Given the description of an element on the screen output the (x, y) to click on. 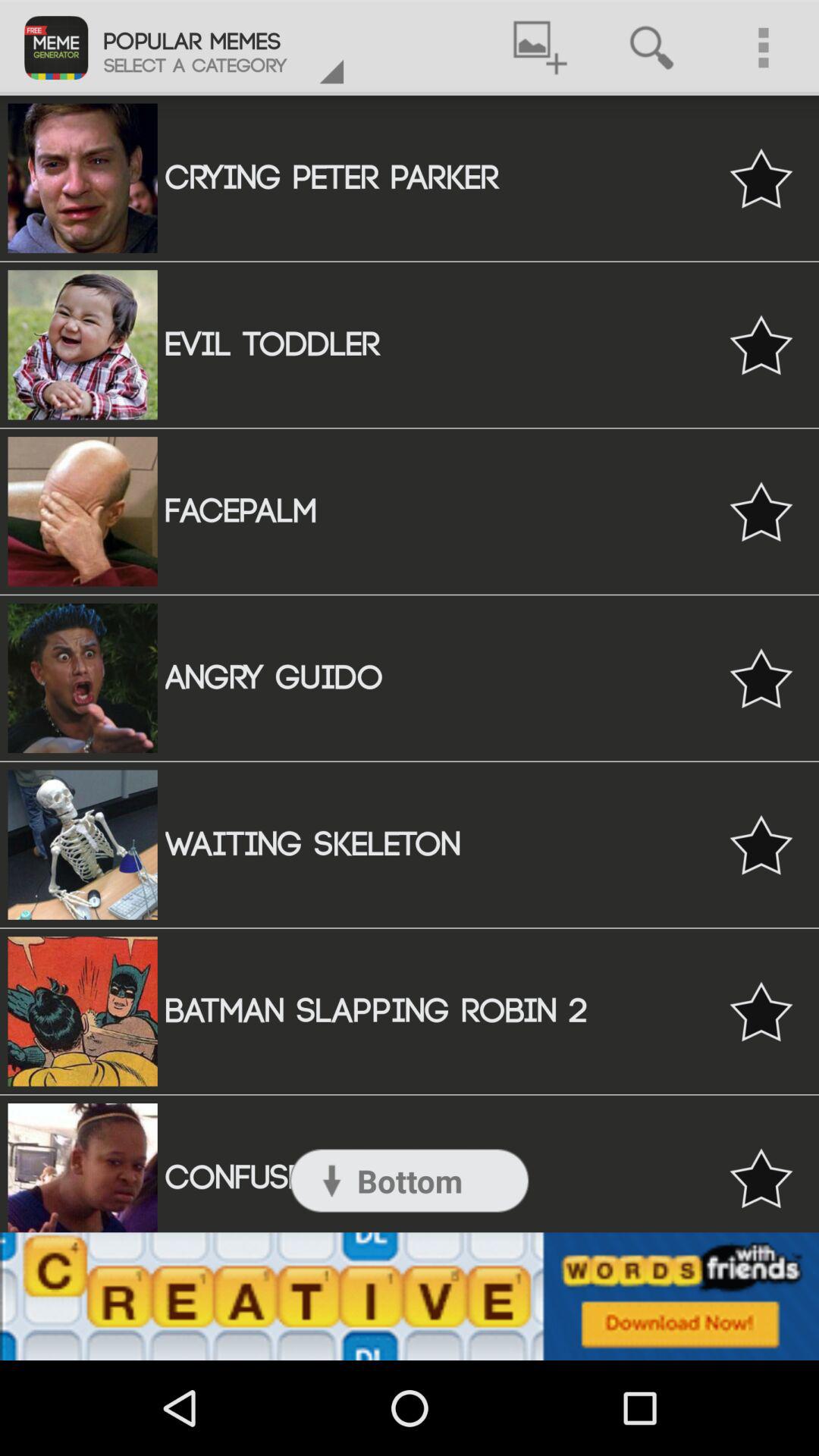
save as favorite (761, 511)
